Given the description of an element on the screen output the (x, y) to click on. 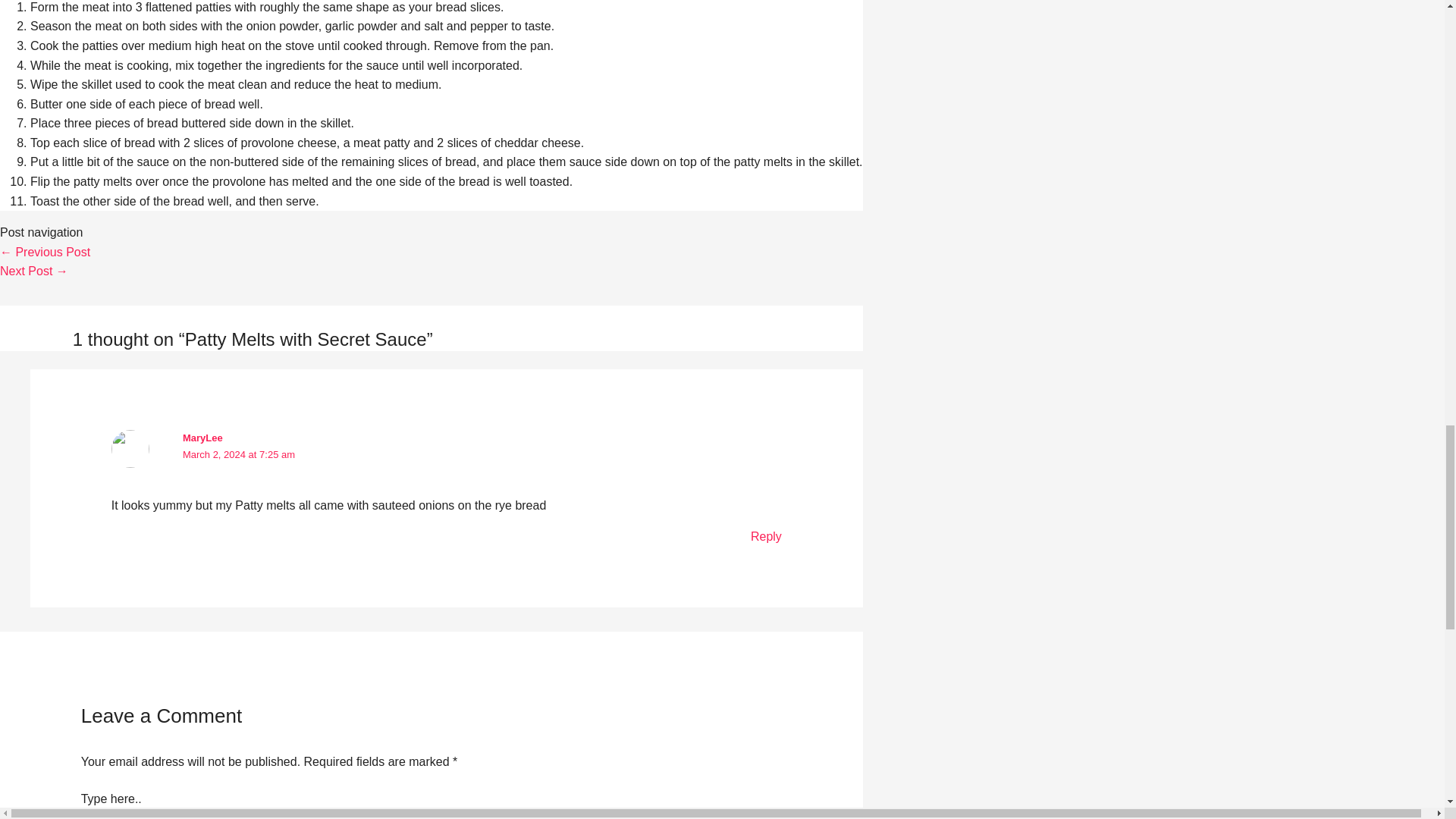
March 2, 2024 at 7:25 am (239, 454)
Reply (766, 535)
The Best Potatoes DelMonico Recipe (34, 270)
Bread and Butter Pudding (45, 251)
